Given the description of an element on the screen output the (x, y) to click on. 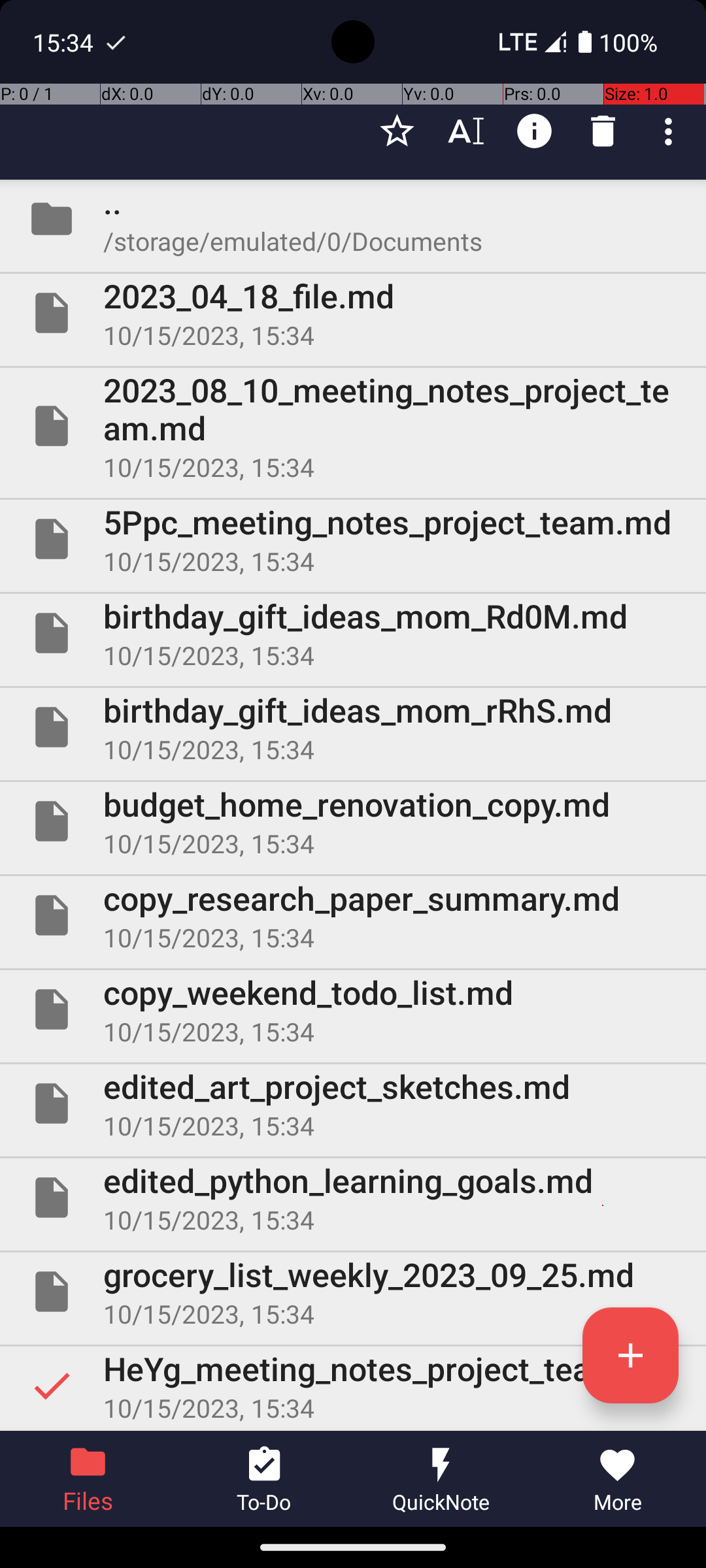
Favourite Element type: android.widget.TextView (396, 131)
Rename Element type: android.widget.TextView (465, 131)
File 2023_04_18_file.md  Element type: android.widget.LinearLayout (353, 312)
File 2023_08_10_meeting_notes_project_team.md  Element type: android.widget.LinearLayout (353, 425)
File 5Ppc_meeting_notes_project_team.md  Element type: android.widget.LinearLayout (353, 538)
File birthday_gift_ideas_mom_Rd0M.md  Element type: android.widget.LinearLayout (353, 632)
File birthday_gift_ideas_mom_rRhS.md  Element type: android.widget.LinearLayout (353, 726)
File budget_home_renovation_copy.md  Element type: android.widget.LinearLayout (353, 821)
File copy_research_paper_summary.md  Element type: android.widget.LinearLayout (353, 915)
File copy_weekend_todo_list.md  Element type: android.widget.LinearLayout (353, 1009)
File edited_art_project_sketches.md  Element type: android.widget.LinearLayout (353, 1103)
File edited_python_learning_goals.md  Element type: android.widget.LinearLayout (353, 1197)
File grocery_list_weekly_2023_09_25.md  Element type: android.widget.LinearLayout (353, 1291)
Selected HeYg_meeting_notes_project_team.md  Element type: android.widget.LinearLayout (353, 1385)
